Given the description of an element on the screen output the (x, y) to click on. 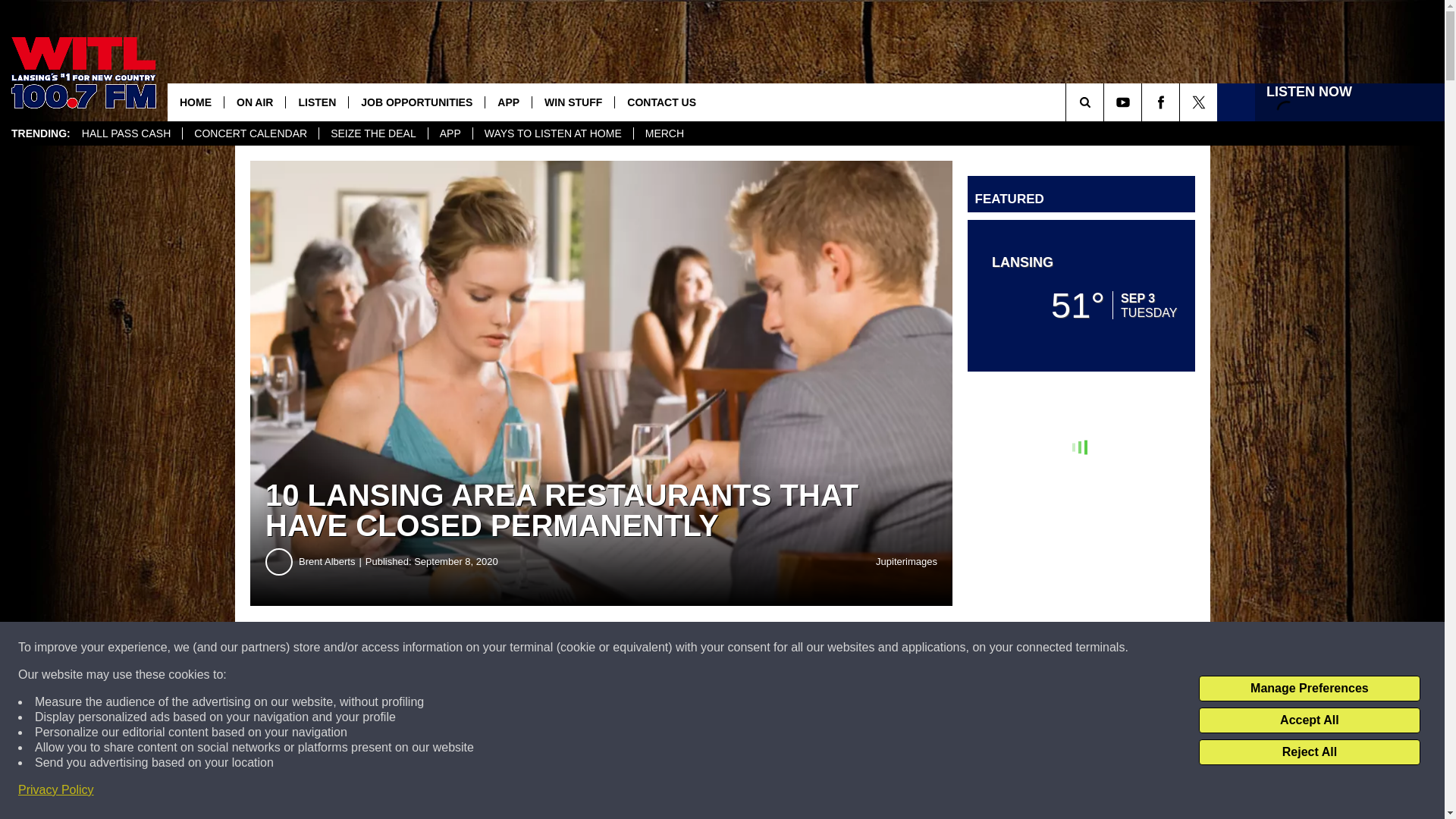
SEARCH (1106, 102)
Lansing Weather (1081, 295)
APP (507, 102)
LISTEN (316, 102)
CONTACT US (660, 102)
WIN STUFF (572, 102)
Share on Twitter (741, 647)
Accept All (1309, 720)
SEARCH (1106, 102)
Manage Preferences (1309, 688)
